Given the description of an element on the screen output the (x, y) to click on. 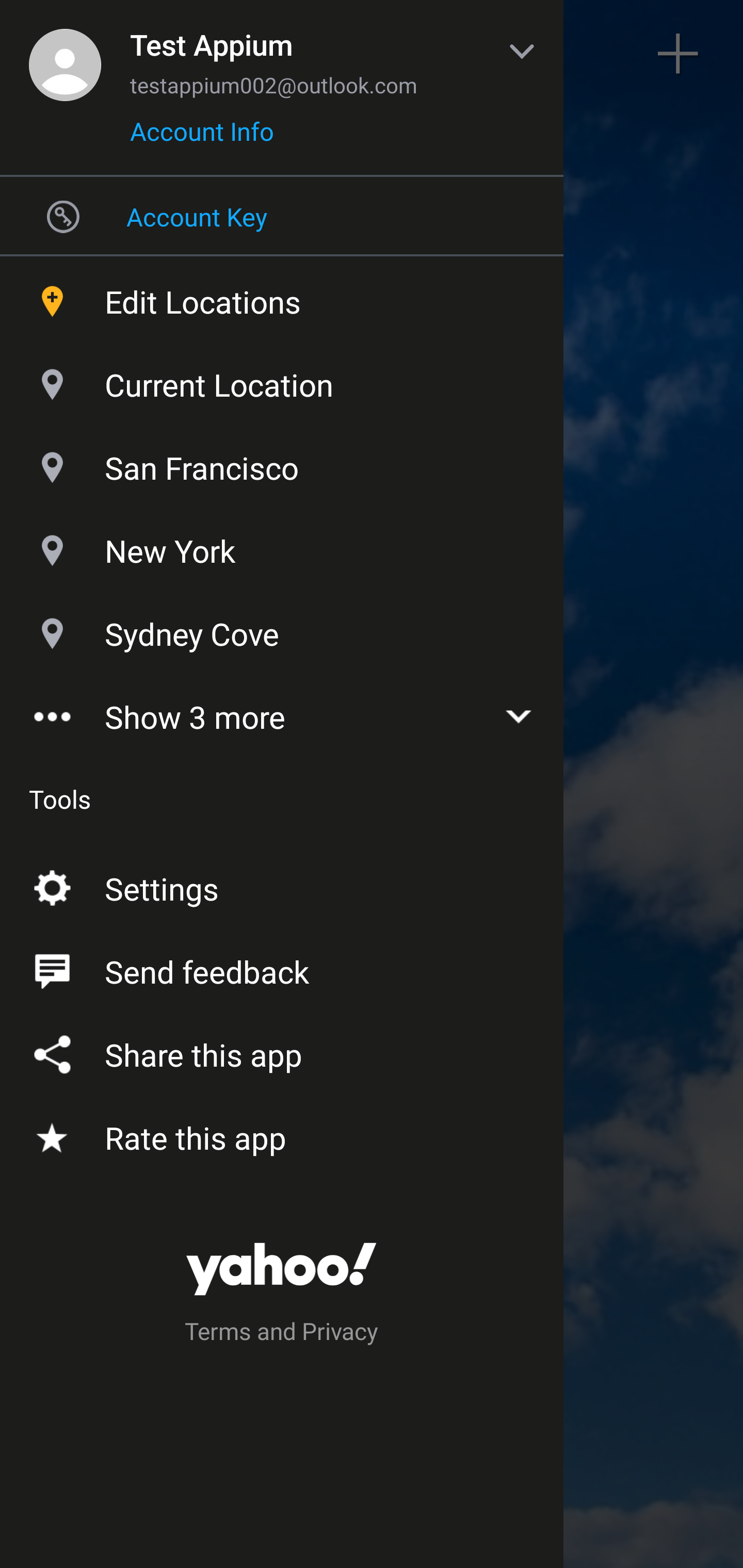
Sidebar (64, 54)
Account Info (202, 137)
Account Key (281, 216)
Edit Locations (281, 296)
Current Location (281, 379)
San Francisco (281, 462)
New York (281, 546)
Sydney Cove (281, 629)
Settings (281, 884)
Send feedback (281, 967)
Share this app (281, 1050)
Terms and Privacy Terms and privacy button (281, 1334)
